Given the description of an element on the screen output the (x, y) to click on. 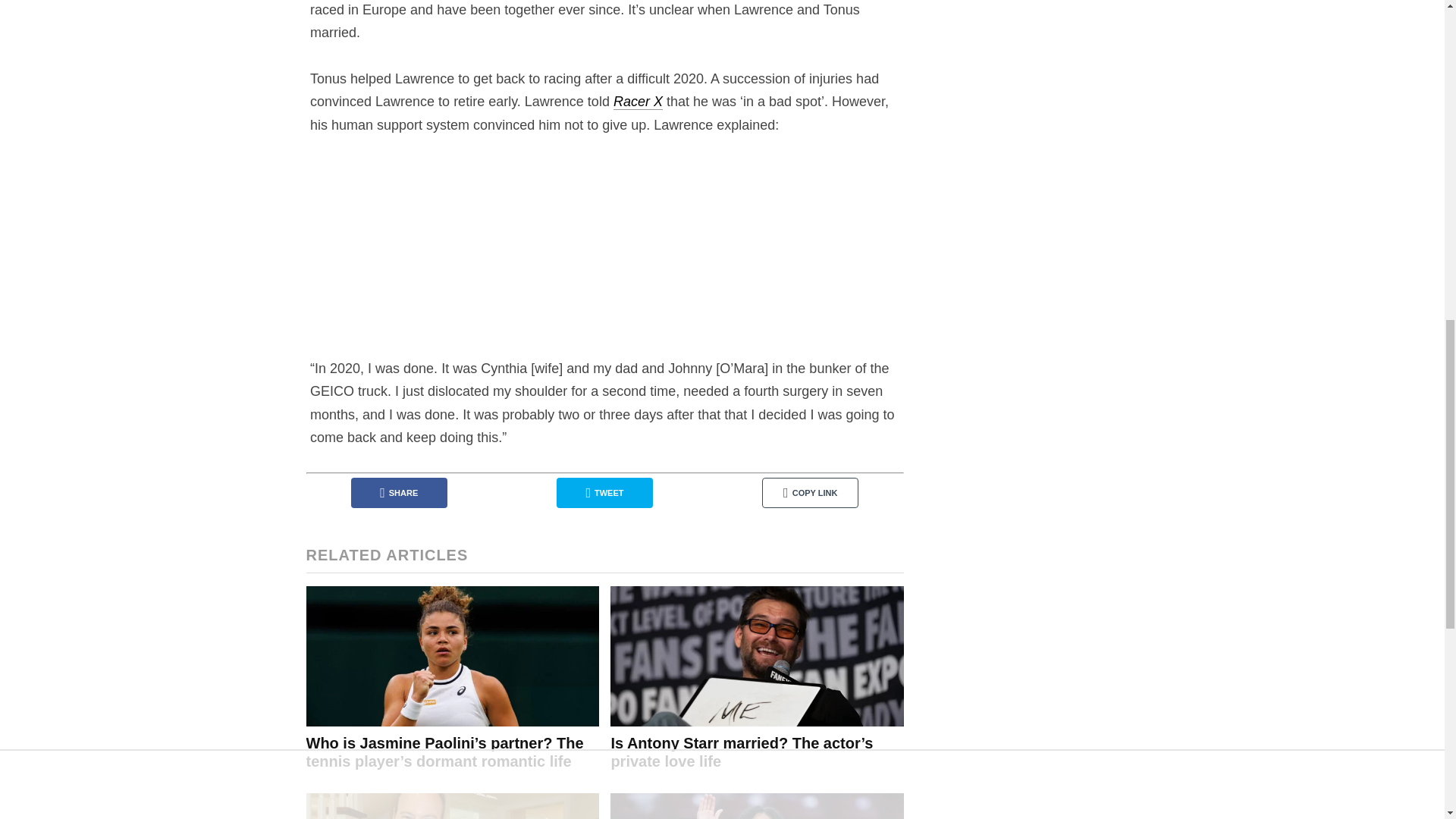
Racer X (637, 101)
SHARE (398, 492)
TWEET (604, 492)
COPY LINK (810, 492)
